Given the description of an element on the screen output the (x, y) to click on. 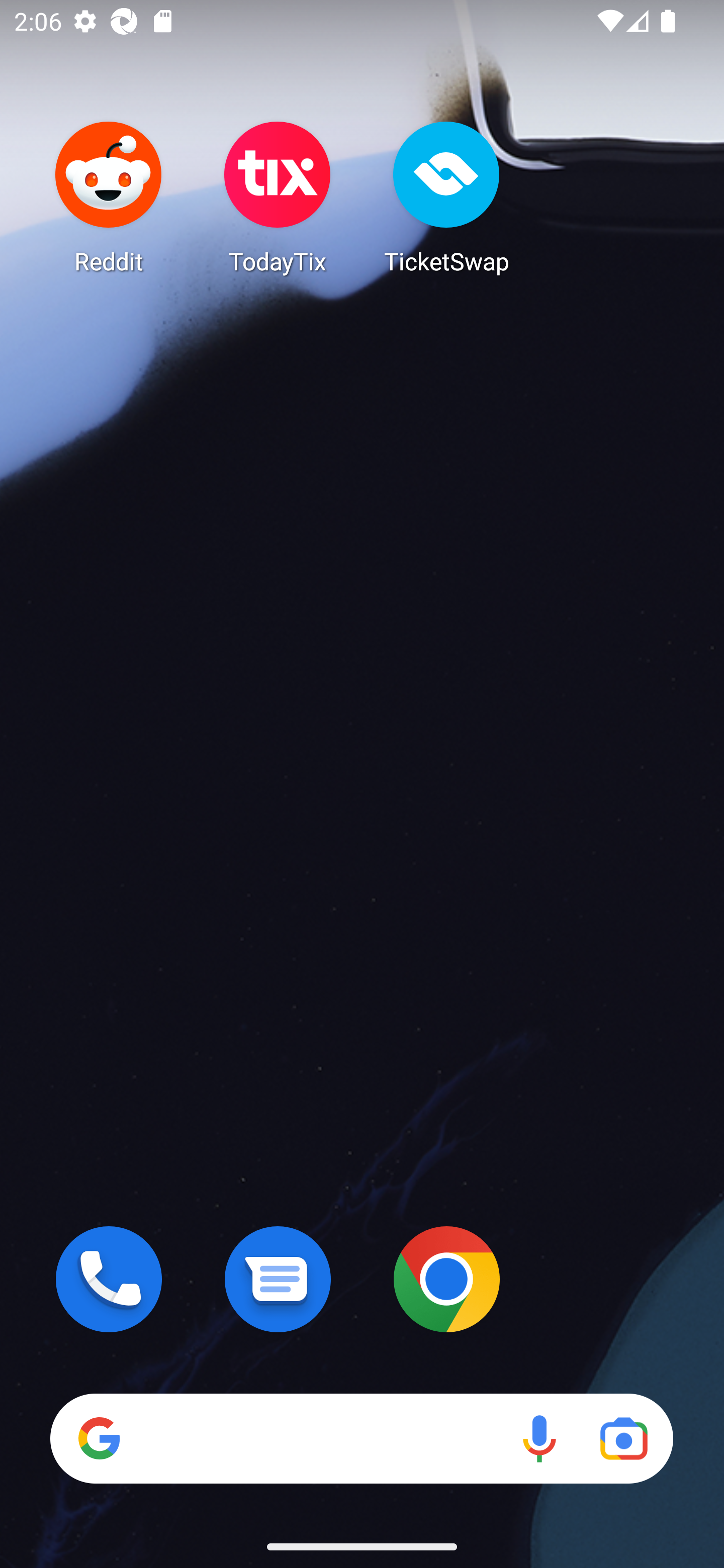
Reddit (108, 196)
TodayTix (277, 196)
TicketSwap (445, 196)
Phone (108, 1279)
Messages (277, 1279)
Chrome (446, 1279)
Voice search (539, 1438)
Google Lens (623, 1438)
